Given the description of an element on the screen output the (x, y) to click on. 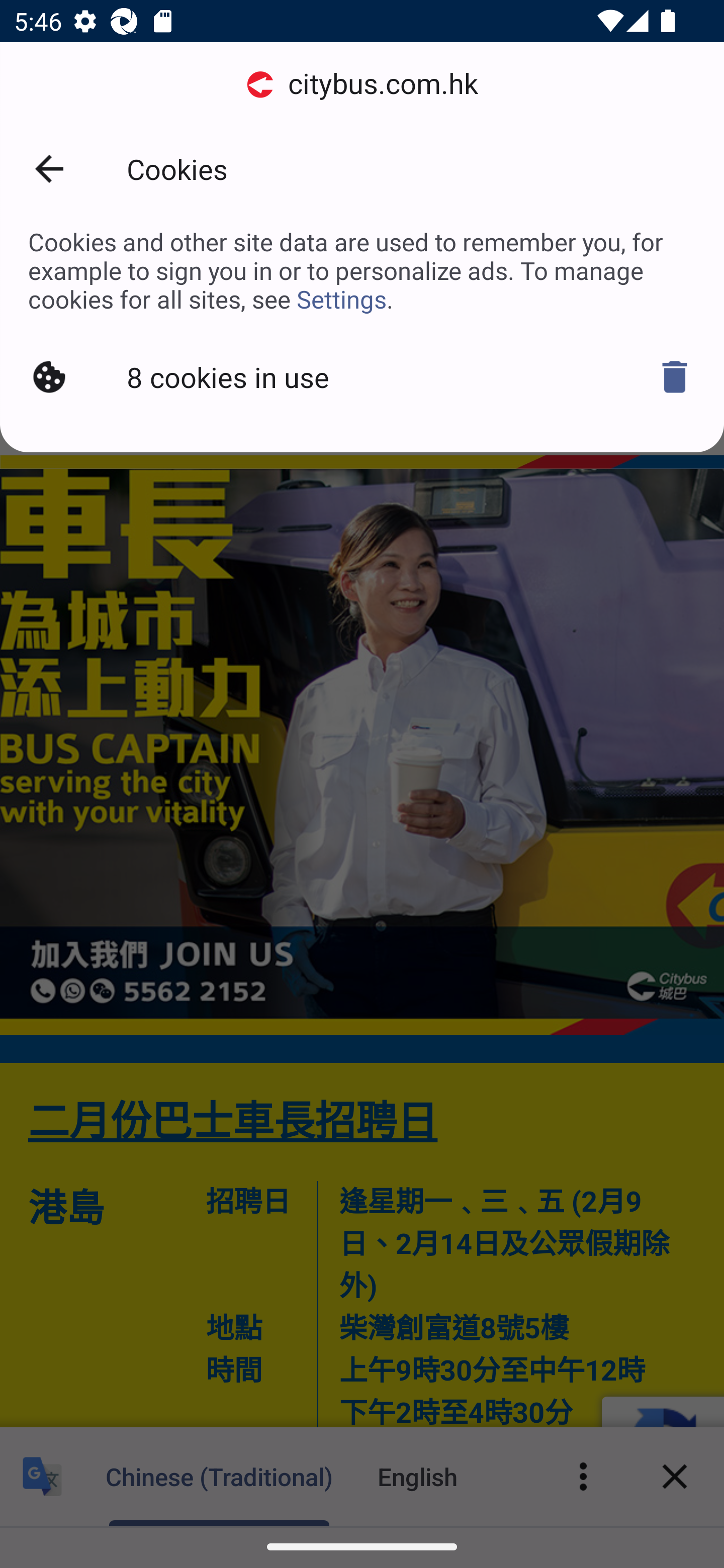
citybus.com.hk (362, 84)
Back (49, 169)
8 cookies in use Clear cookies? (362, 376)
